Given the description of an element on the screen output the (x, y) to click on. 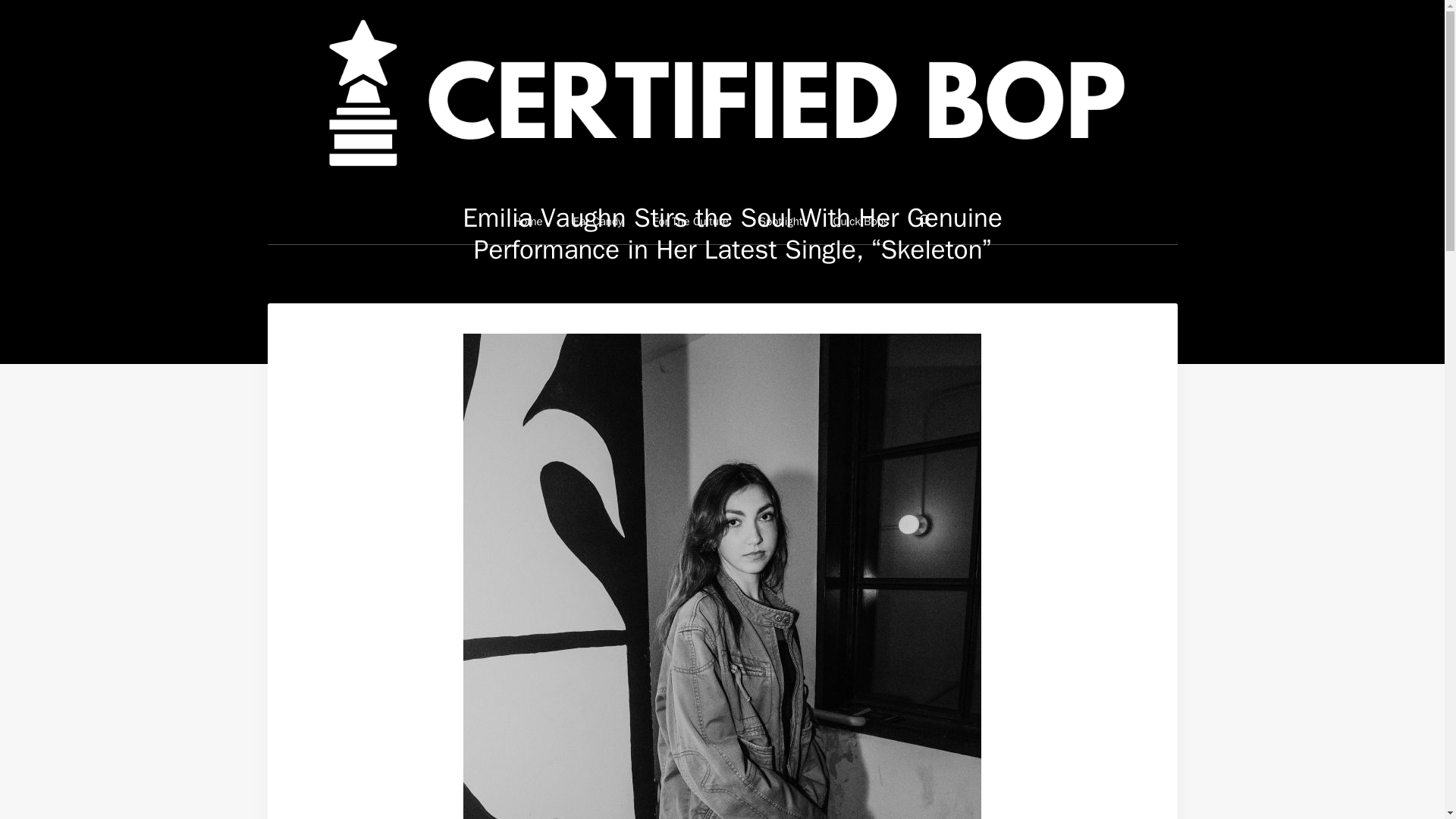
Spotlight (781, 221)
For The Culture (689, 221)
Ear Candy (598, 221)
Home (527, 221)
Quick Bops (861, 221)
Certified Bop (722, 98)
